Given the description of an element on the screen output the (x, y) to click on. 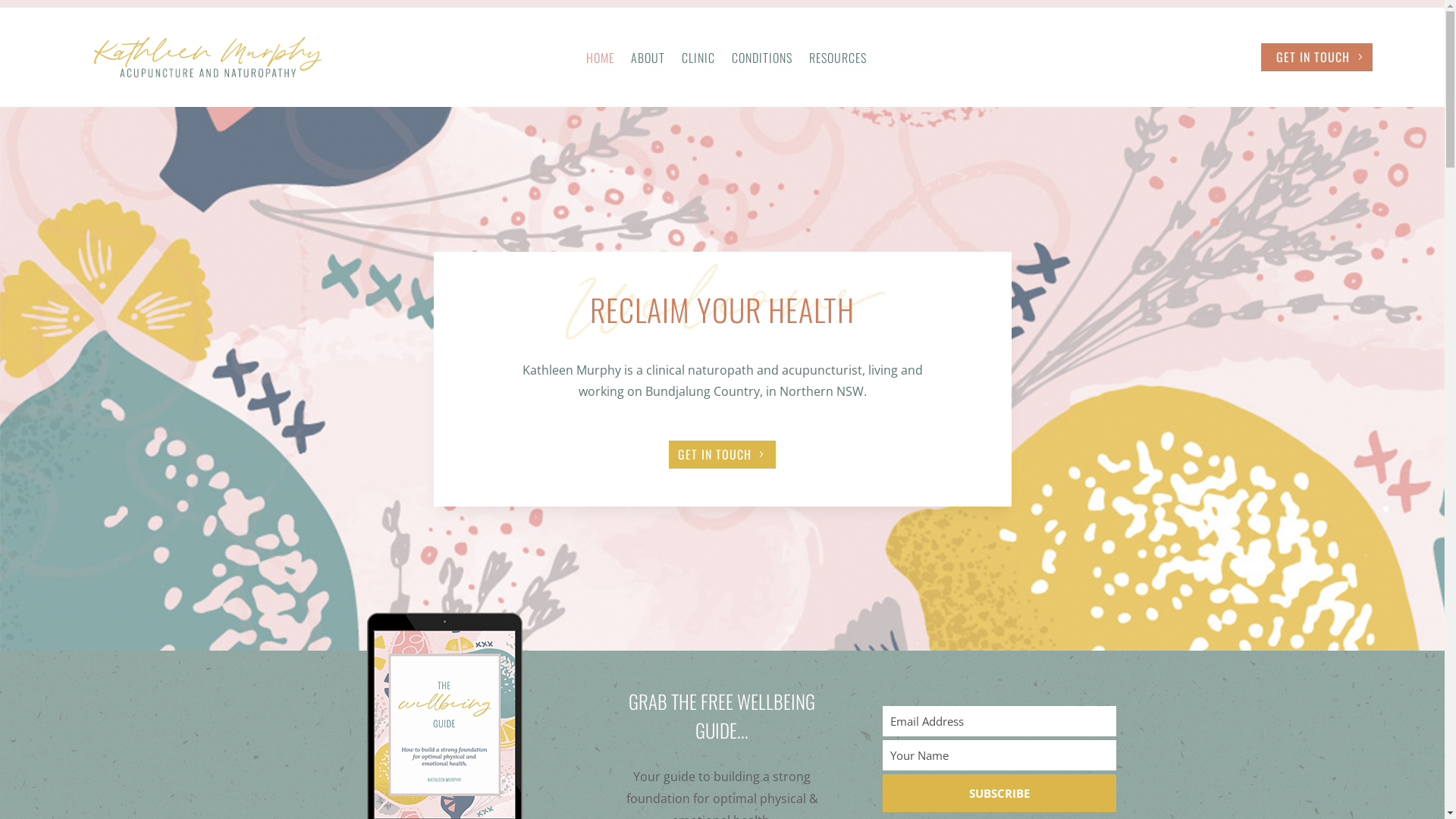
CLINIC Element type: text (698, 60)
ABOUT Element type: text (647, 60)
Kathleen Murphy Naturopath & Acupuncture Element type: hover (207, 57)
GET IN TOUCH Element type: text (721, 454)
RESOURCES Element type: text (837, 60)
HOME Element type: text (600, 60)
GET IN TOUCH Element type: text (1316, 57)
CONDITIONS Element type: text (761, 60)
Subscribe Element type: text (999, 793)
